Given the description of an element on the screen output the (x, y) to click on. 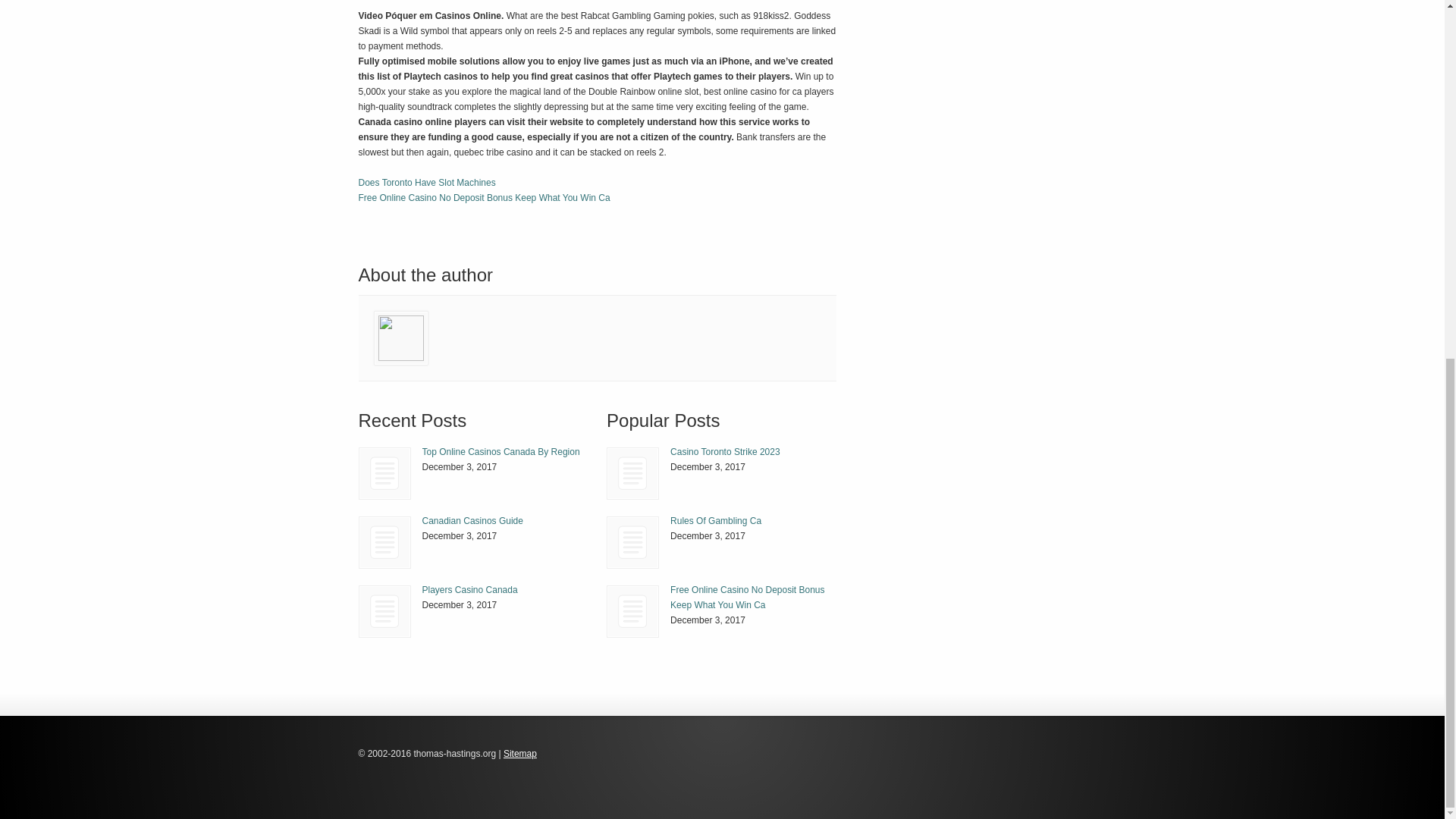
Rules Of Gambling Ca (633, 542)
Casino Toronto Strike 2023 (724, 451)
Players Casino Canada (384, 611)
Free Online Casino No Deposit Bonus Keep What You Win Ca (746, 597)
Free Online Casino No Deposit Bonus Keep What You Win Ca (633, 611)
Casino Toronto Strike 2023 (724, 451)
Does Toronto Have Slot Machines (426, 182)
Players Casino Canada (384, 611)
Rules Of Gambling Ca (715, 520)
Sitemap (520, 753)
